Given the description of an element on the screen output the (x, y) to click on. 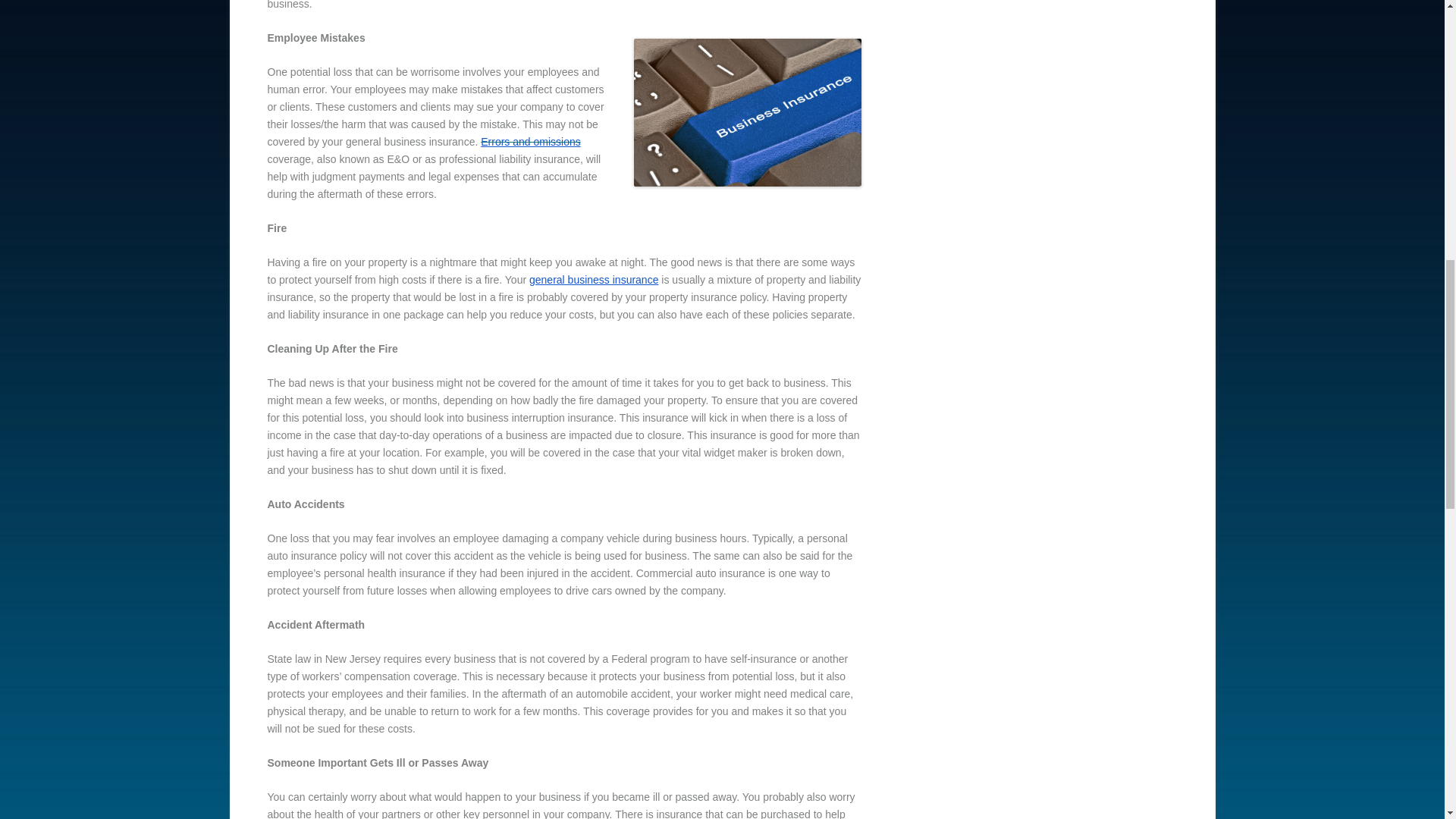
general business insurance (593, 279)
Errors and omissions (530, 141)
